Given the description of an element on the screen output the (x, y) to click on. 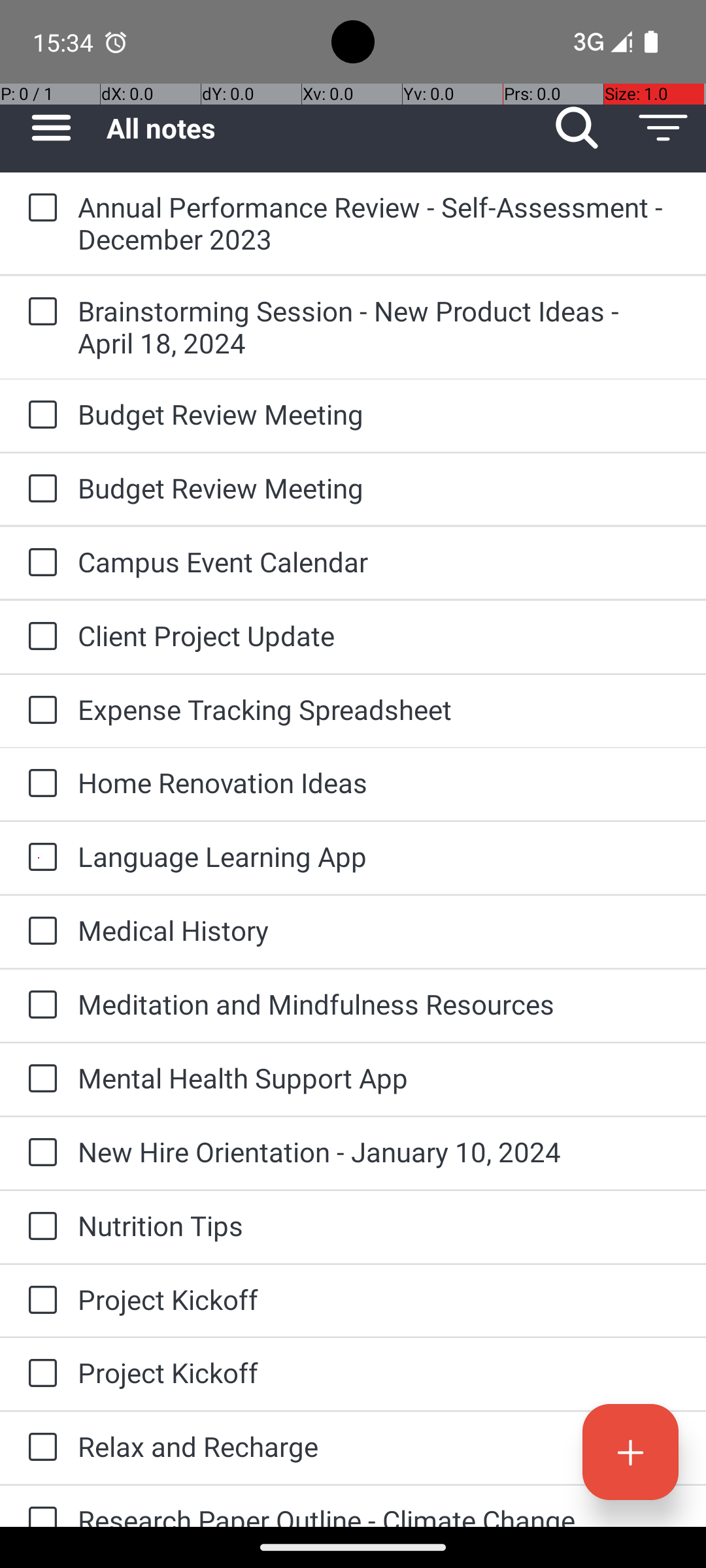
to-do: Brainstorming Session - New Product Ideas - April 18, 2024 Element type: android.widget.CheckBox (38, 312)
Brainstorming Session - New Product Ideas - April 18, 2024 Element type: android.widget.TextView (378, 326)
to-do: Campus Event Calendar Element type: android.widget.CheckBox (38, 563)
Campus Event Calendar Element type: android.widget.TextView (378, 561)
to-do: Client Project Update Element type: android.widget.CheckBox (38, 636)
Client Project Update Element type: android.widget.TextView (378, 634)
to-do: Expense Tracking Spreadsheet Element type: android.widget.CheckBox (38, 710)
Expense Tracking Spreadsheet Element type: android.widget.TextView (378, 708)
to-do: Home Renovation Ideas Element type: android.widget.CheckBox (38, 783)
Home Renovation Ideas Element type: android.widget.TextView (378, 781)
to-do: Language Learning App Element type: android.widget.CheckBox (38, 857)
Language Learning App Element type: android.widget.TextView (378, 855)
to-do: Medical History Element type: android.widget.CheckBox (38, 931)
Medical History Element type: android.widget.TextView (378, 929)
to-do: Meditation and Mindfulness Resources Element type: android.widget.CheckBox (38, 1005)
Meditation and Mindfulness Resources Element type: android.widget.TextView (378, 1003)
to-do: Mental Health Support App Element type: android.widget.CheckBox (38, 1079)
Mental Health Support App Element type: android.widget.TextView (378, 1077)
to-do: Relax and Recharge Element type: android.widget.CheckBox (38, 1447)
Relax and Recharge Element type: android.widget.TextView (378, 1445)
